Given the description of an element on the screen output the (x, y) to click on. 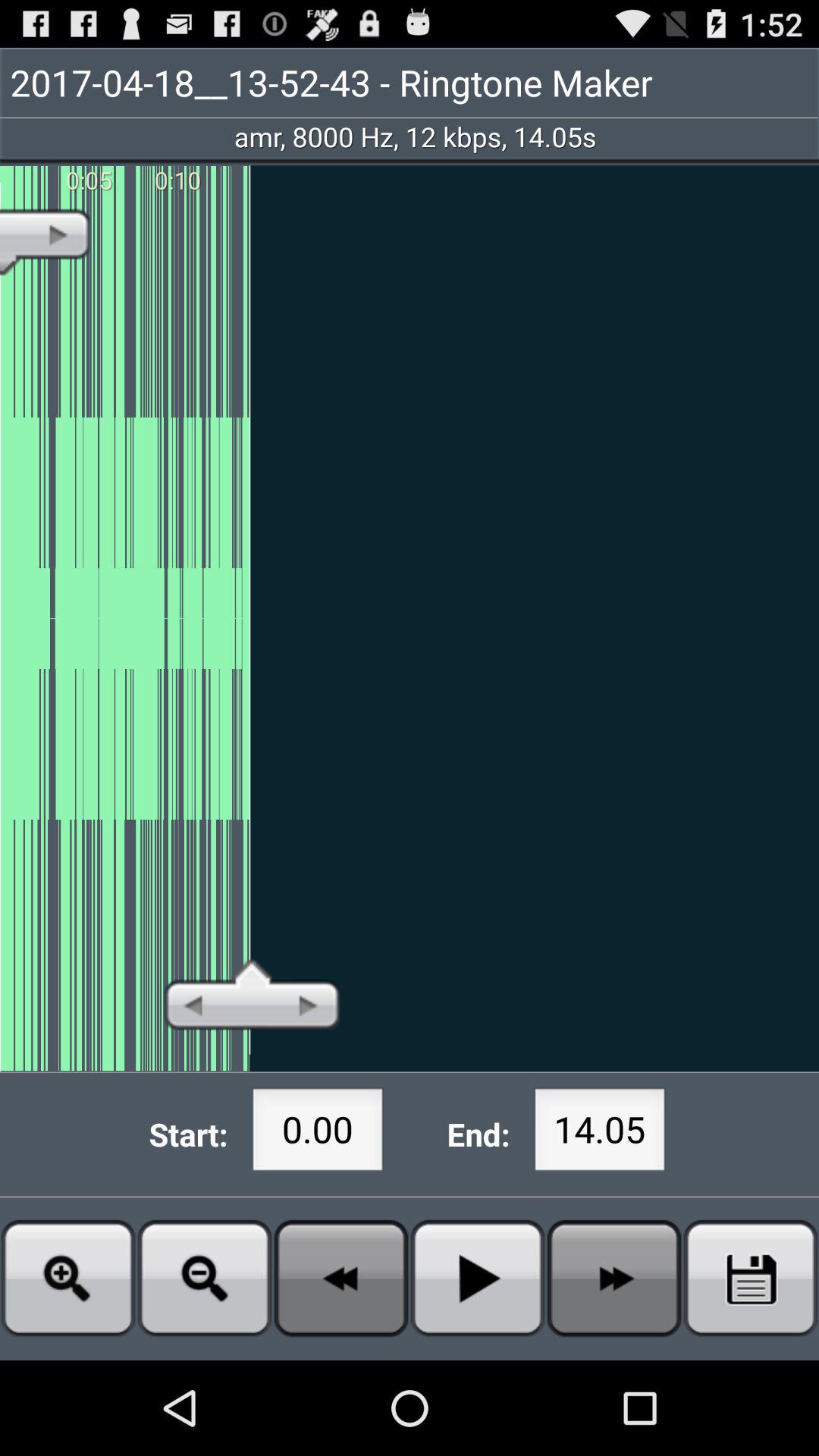
go back (341, 1278)
